Given the description of an element on the screen output the (x, y) to click on. 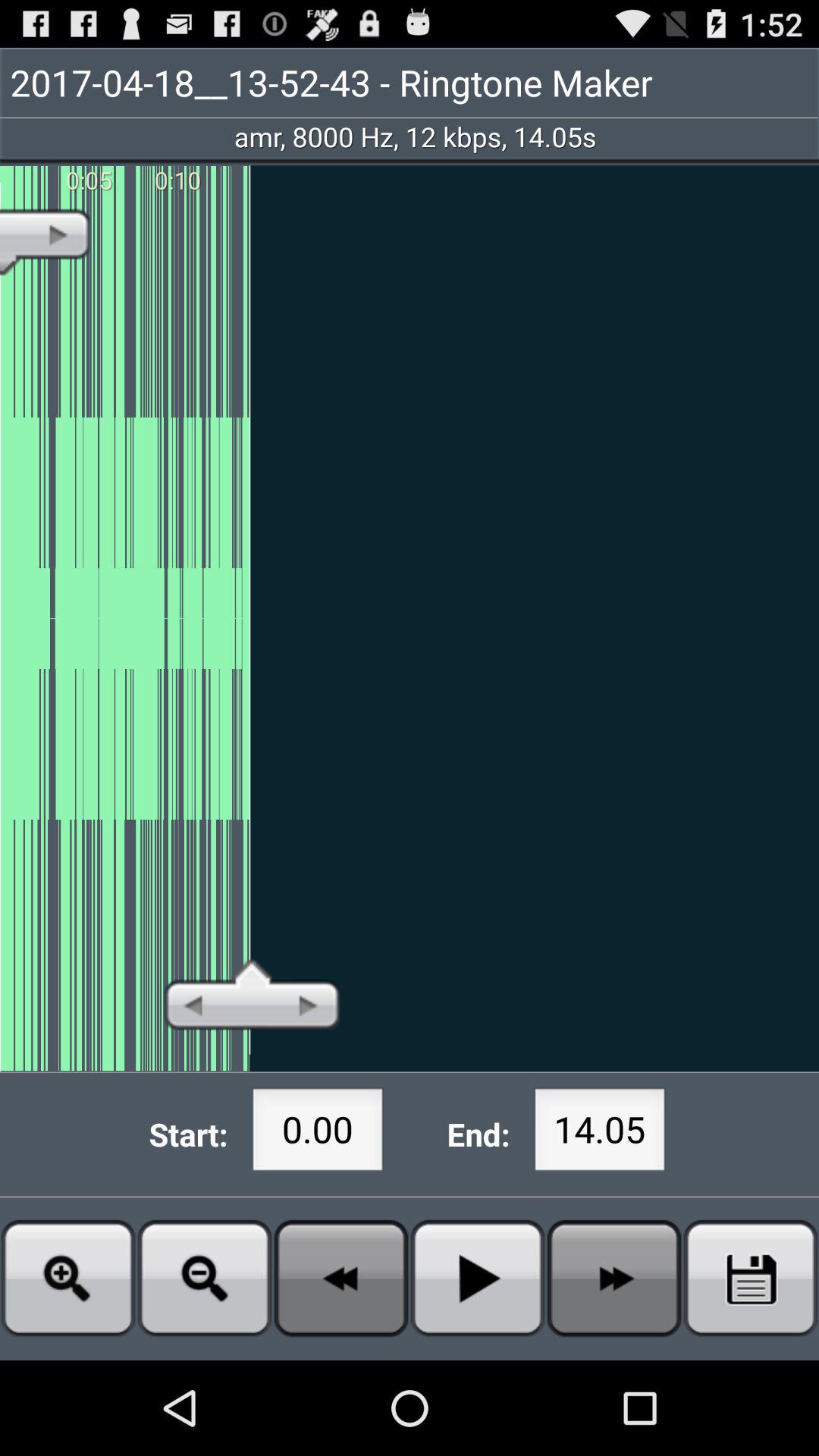
go back (341, 1278)
